Given the description of an element on the screen output the (x, y) to click on. 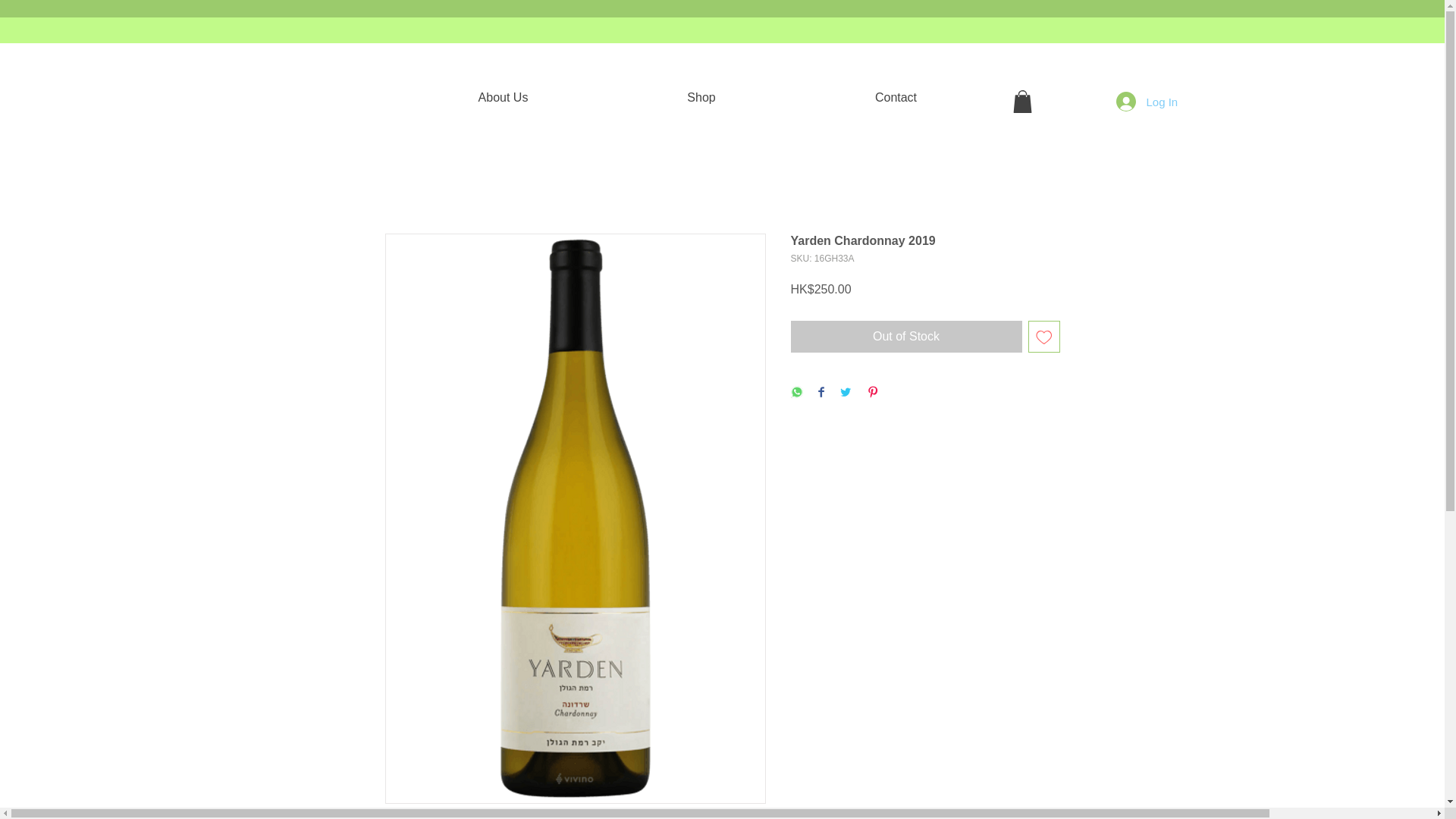
About Us (503, 97)
Contact (894, 97)
Log In (1137, 101)
Out of Stock (906, 336)
